Given the description of an element on the screen output the (x, y) to click on. 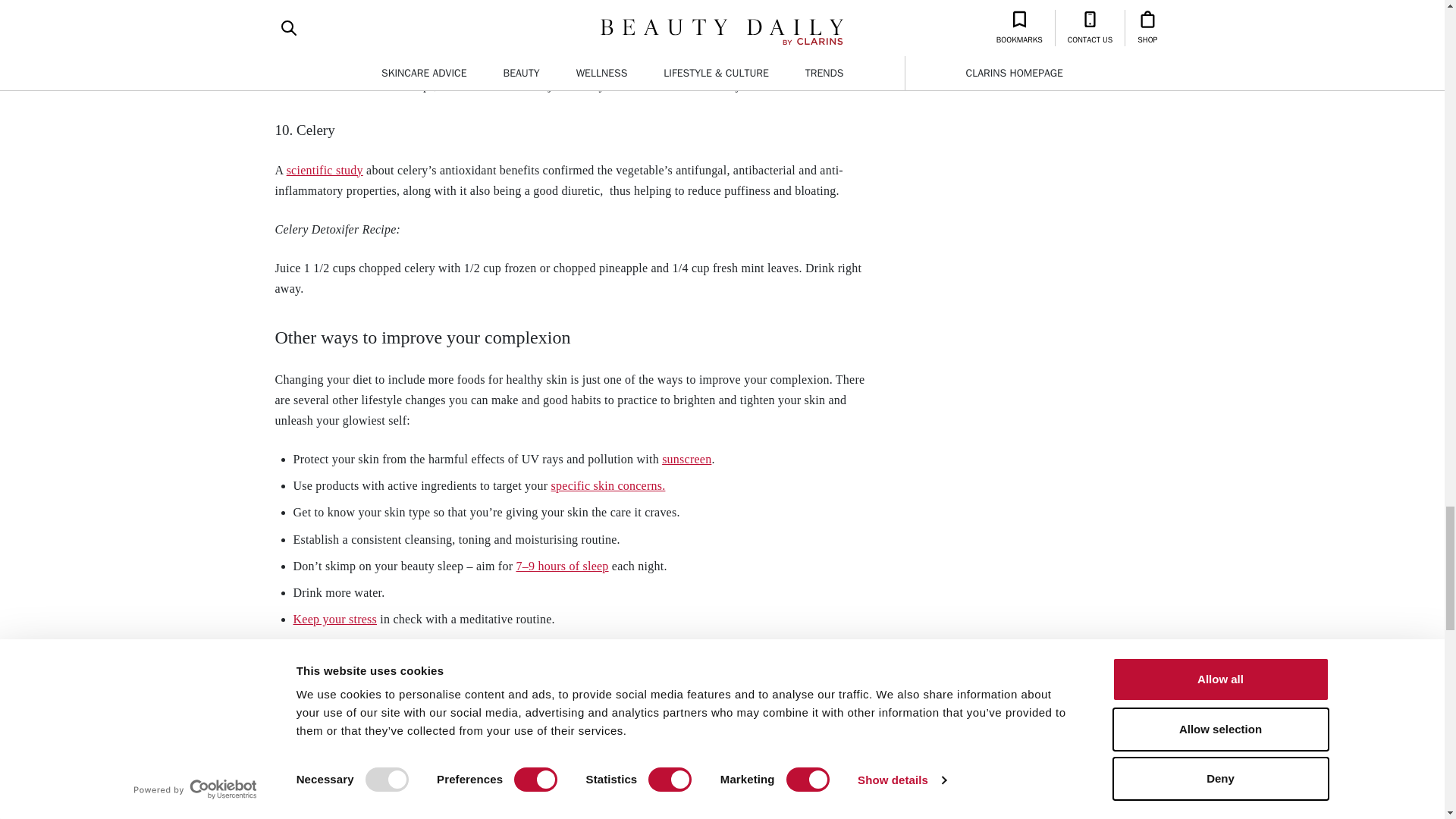
Skin Types (391, 735)
Vegan (468, 735)
Wellness (540, 735)
Nutrition (308, 735)
